Given the description of an element on the screen output the (x, y) to click on. 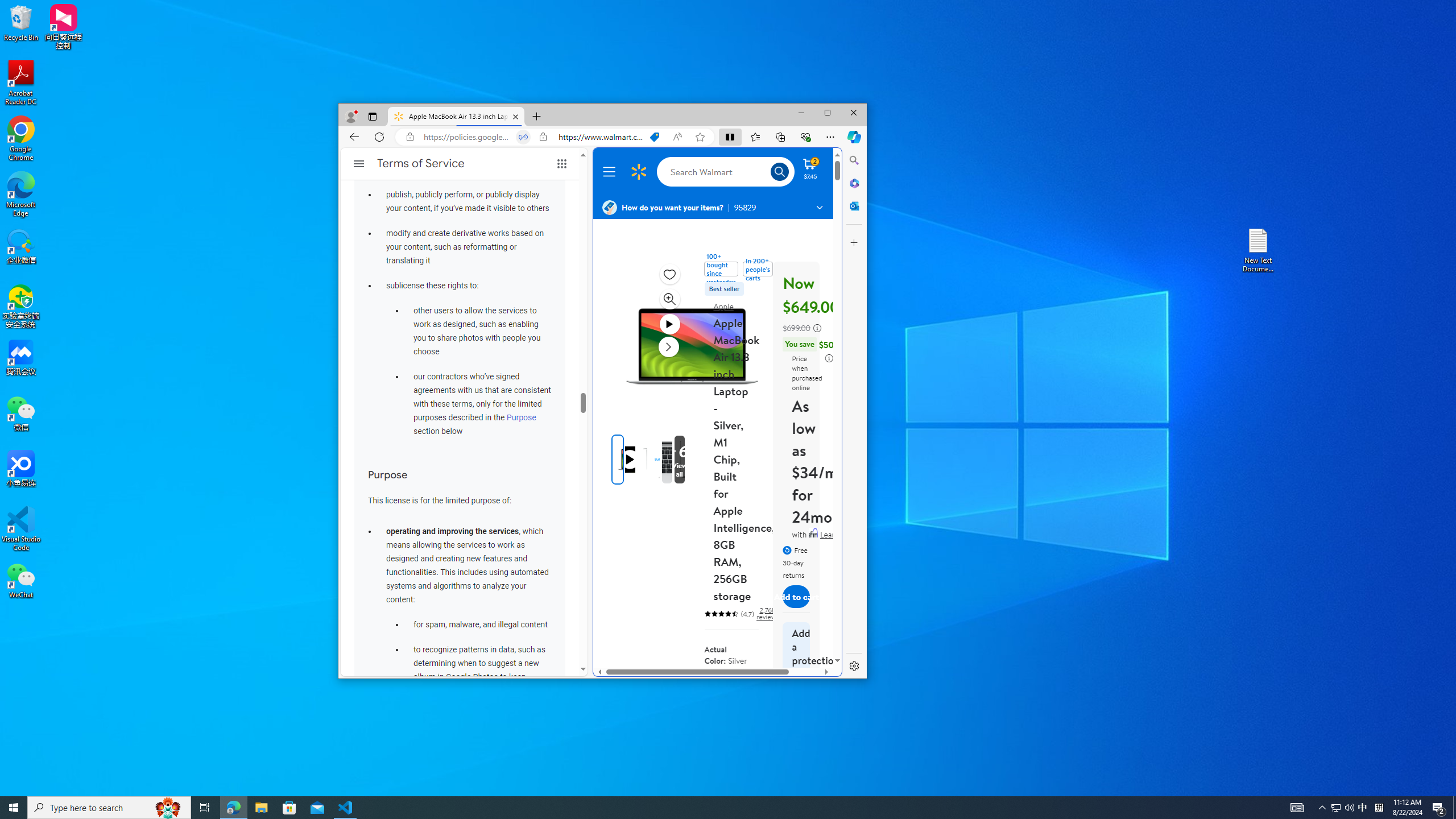
Zoom image modal (669, 299)
New Text Document (2) (1258, 250)
Running applications (1362, 807)
Search icon (707, 807)
Gold (779, 171)
